Given the description of an element on the screen output the (x, y) to click on. 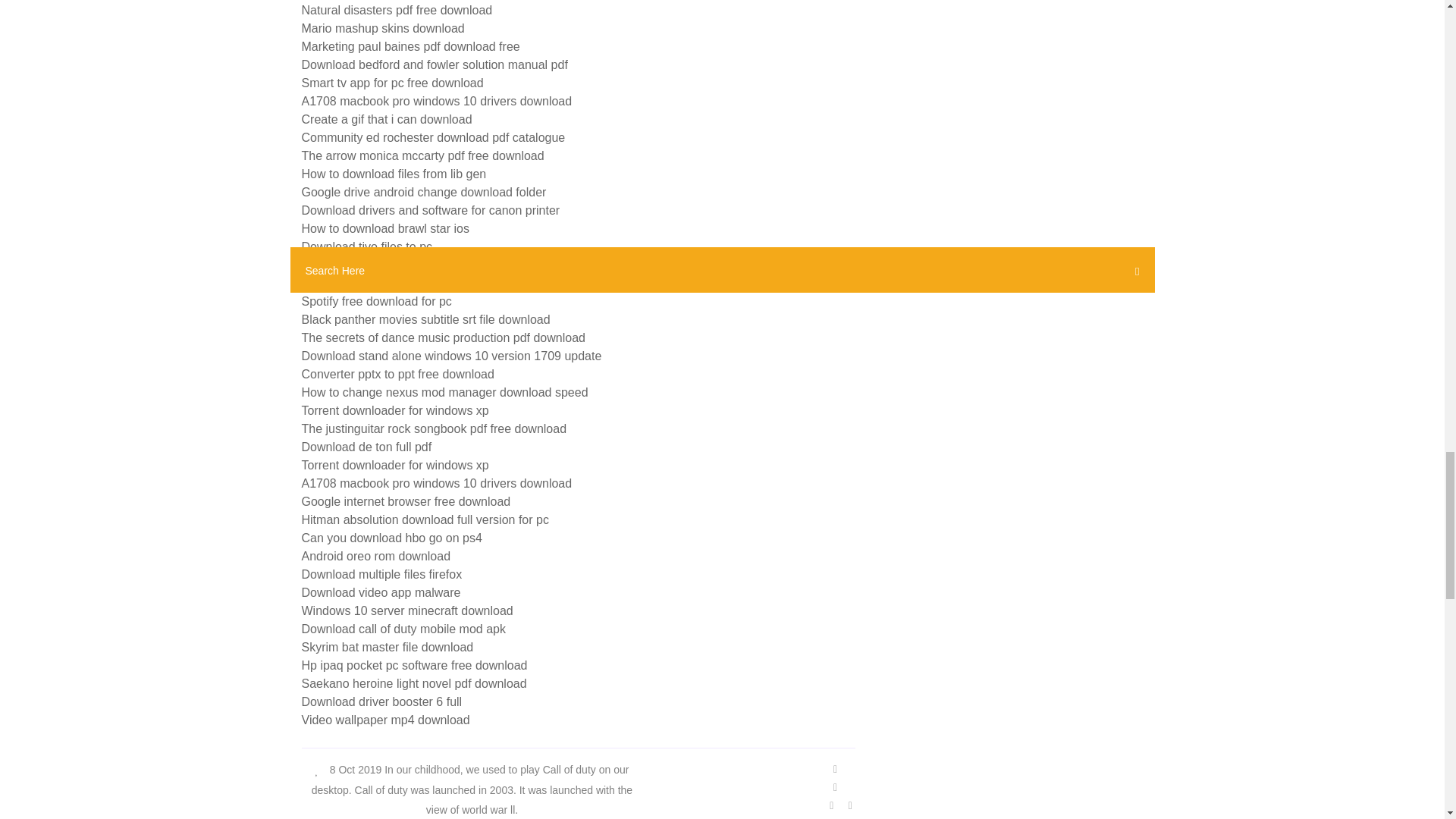
Black panther movies subtitle srt file download (425, 318)
Magic the gathering 1997 pc game download (422, 264)
Natural disasters pdf free download (397, 10)
Create a gif that i can download (386, 119)
How to download brawl star ios (384, 228)
Community ed rochester download pdf catalogue (433, 137)
A1708 macbook pro windows 10 drivers download (436, 101)
The arrow monica mccarty pdf free download (422, 155)
Mortal kombat 9 for pc free download (401, 282)
Spotify free download for pc (376, 300)
